Given the description of an element on the screen output the (x, y) to click on. 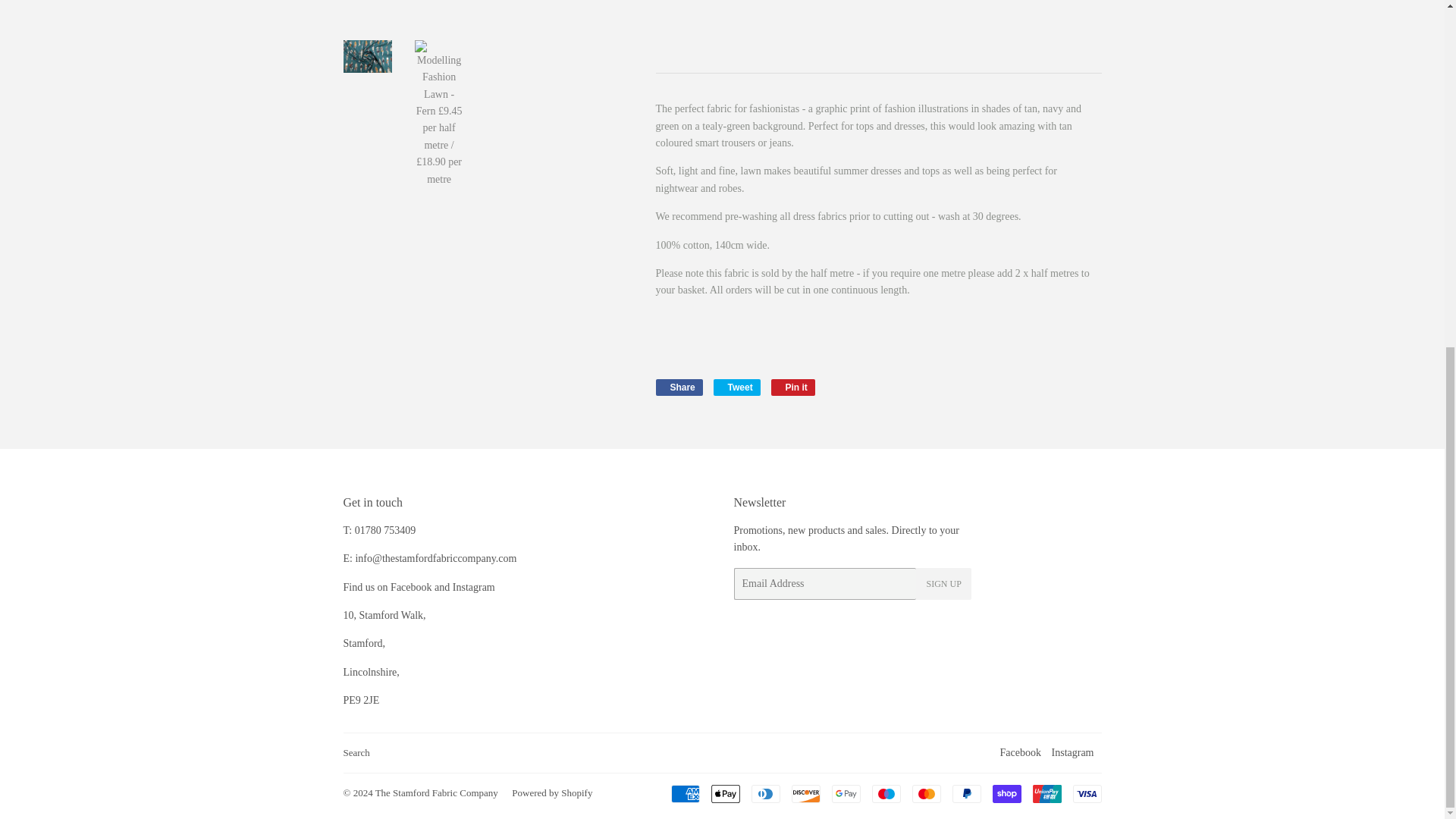
Search (355, 752)
Union Pay (1046, 793)
Visa (1085, 793)
Mastercard (925, 793)
The Stamford Fabric Company on Instagram (1072, 752)
The Stamford Fabric Company on Facebook (1020, 752)
SIGN UP (943, 583)
Maestro (886, 793)
Apple Pay (725, 793)
Instagram (1072, 752)
PayPal (966, 793)
Diners Club (764, 793)
American Express (683, 793)
Google Pay (845, 793)
